Given the description of an element on the screen output the (x, y) to click on. 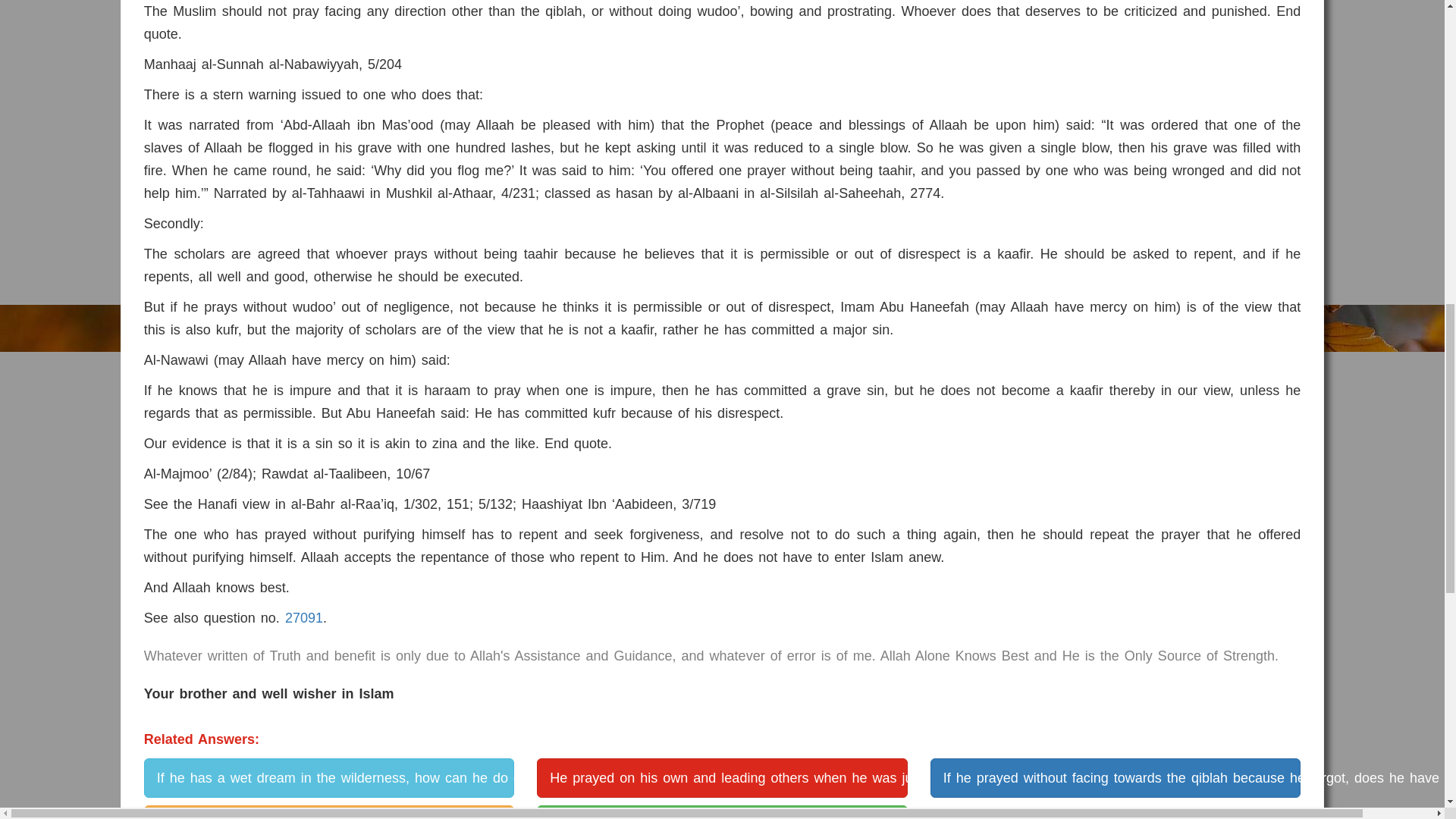
27091 (304, 617)
